Given the description of an element on the screen output the (x, y) to click on. 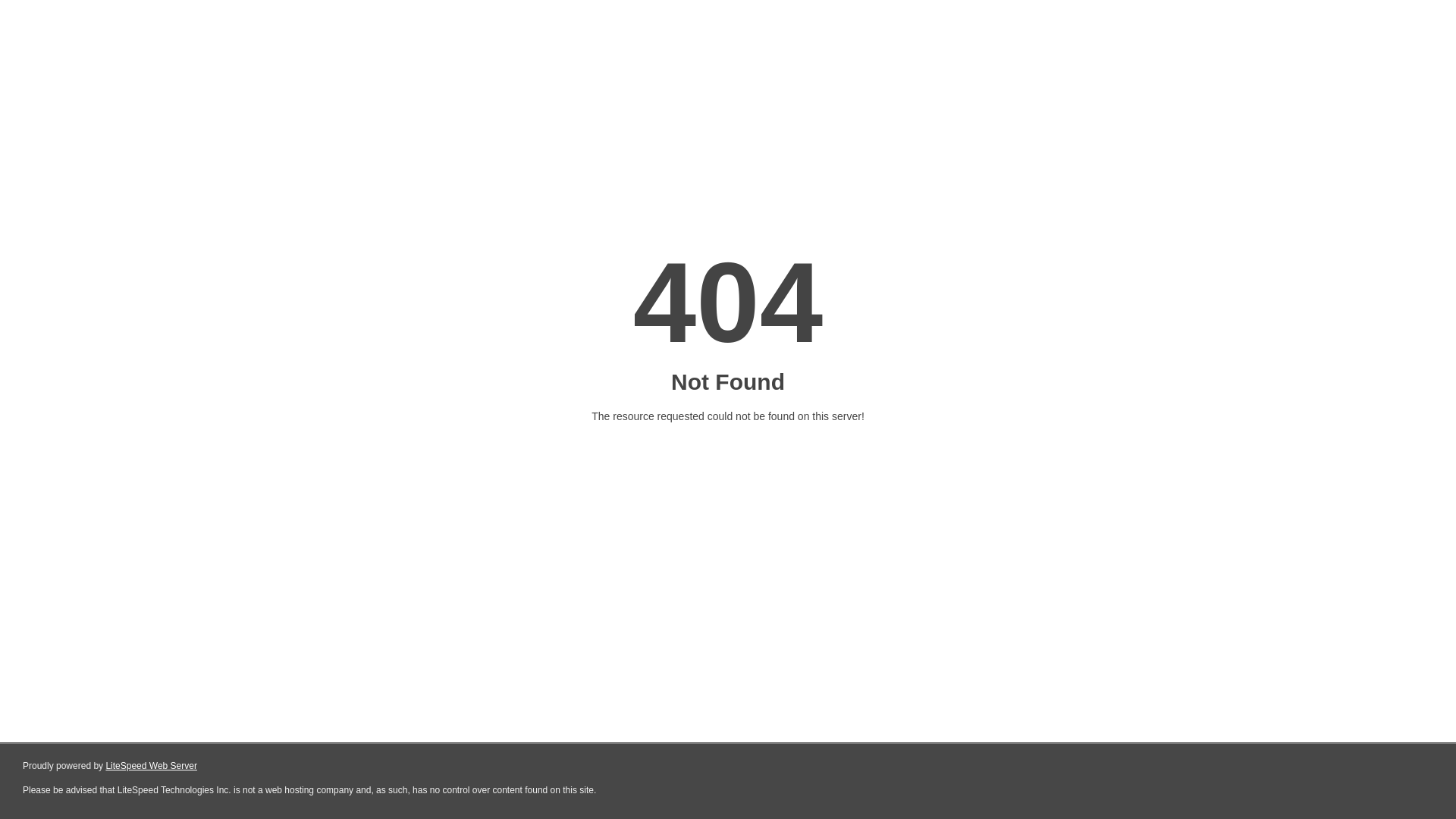
LiteSpeed Web Server Element type: text (151, 765)
